Given the description of an element on the screen output the (x, y) to click on. 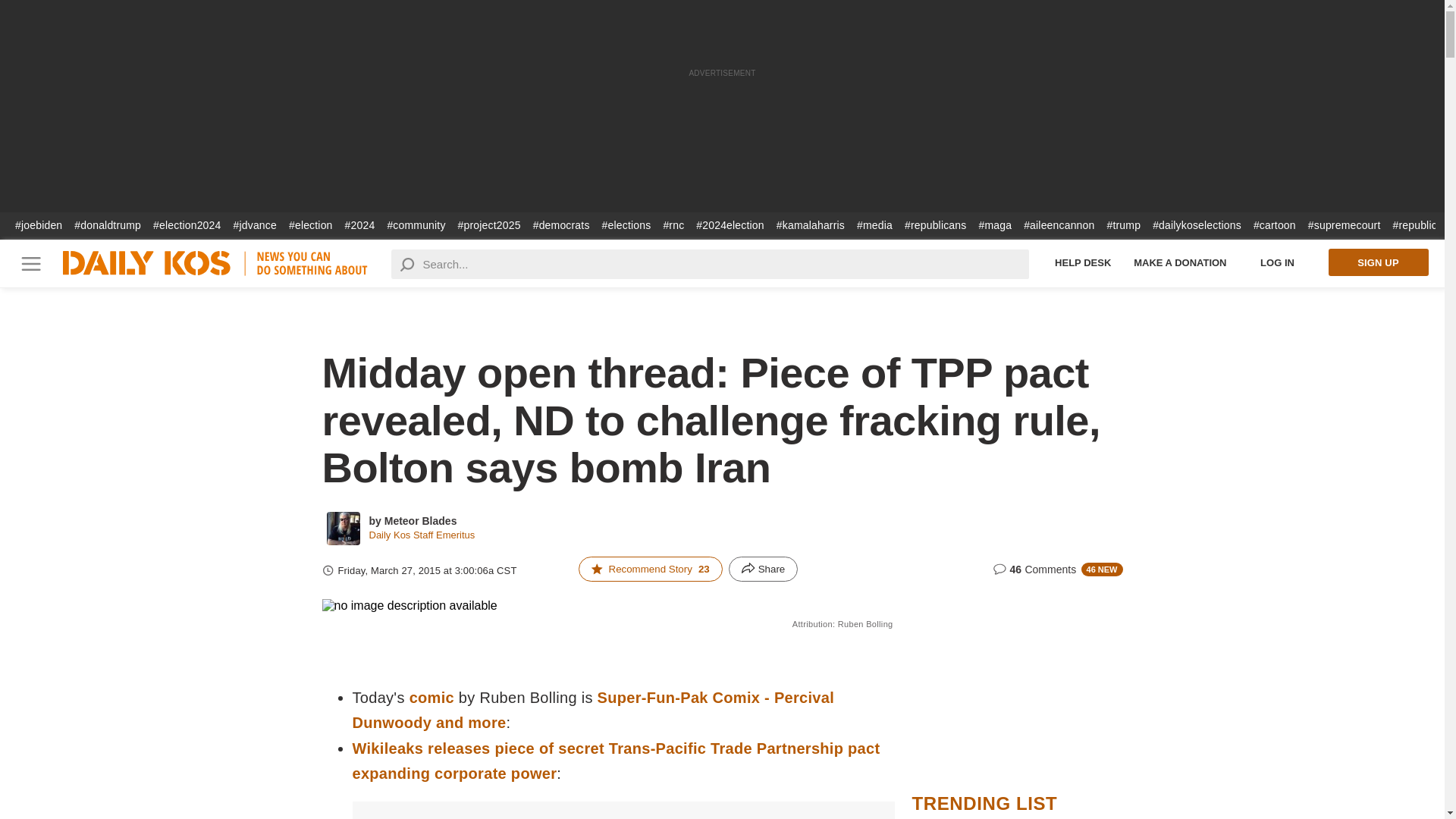
MAKE A DONATION (1179, 262)
Help Desk (1082, 262)
Make a Donation (1179, 262)
